Given the description of an element on the screen output the (x, y) to click on. 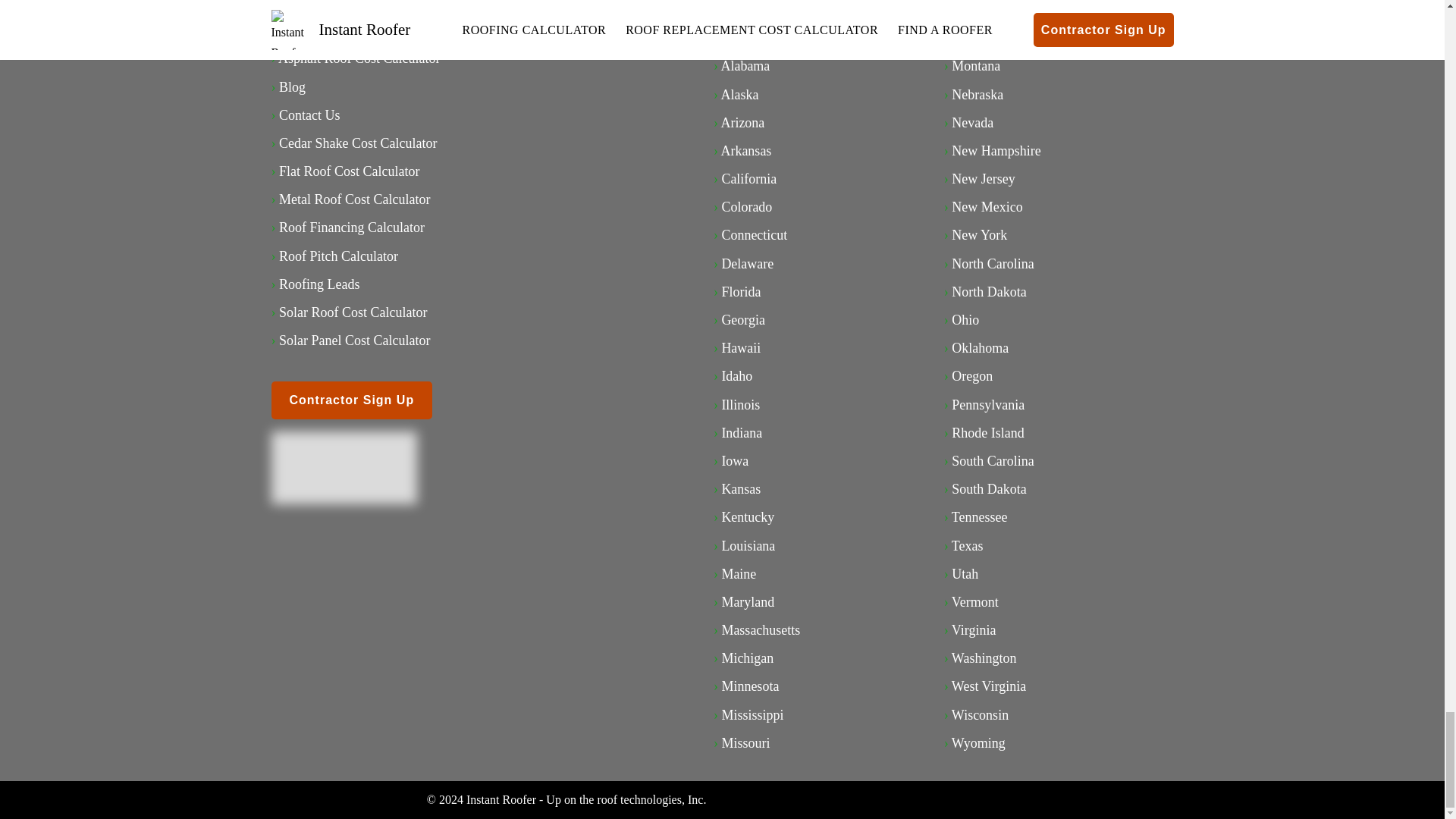
Blog (292, 87)
Asphalt Roof Cost Calculator (358, 58)
